Given the description of an element on the screen output the (x, y) to click on. 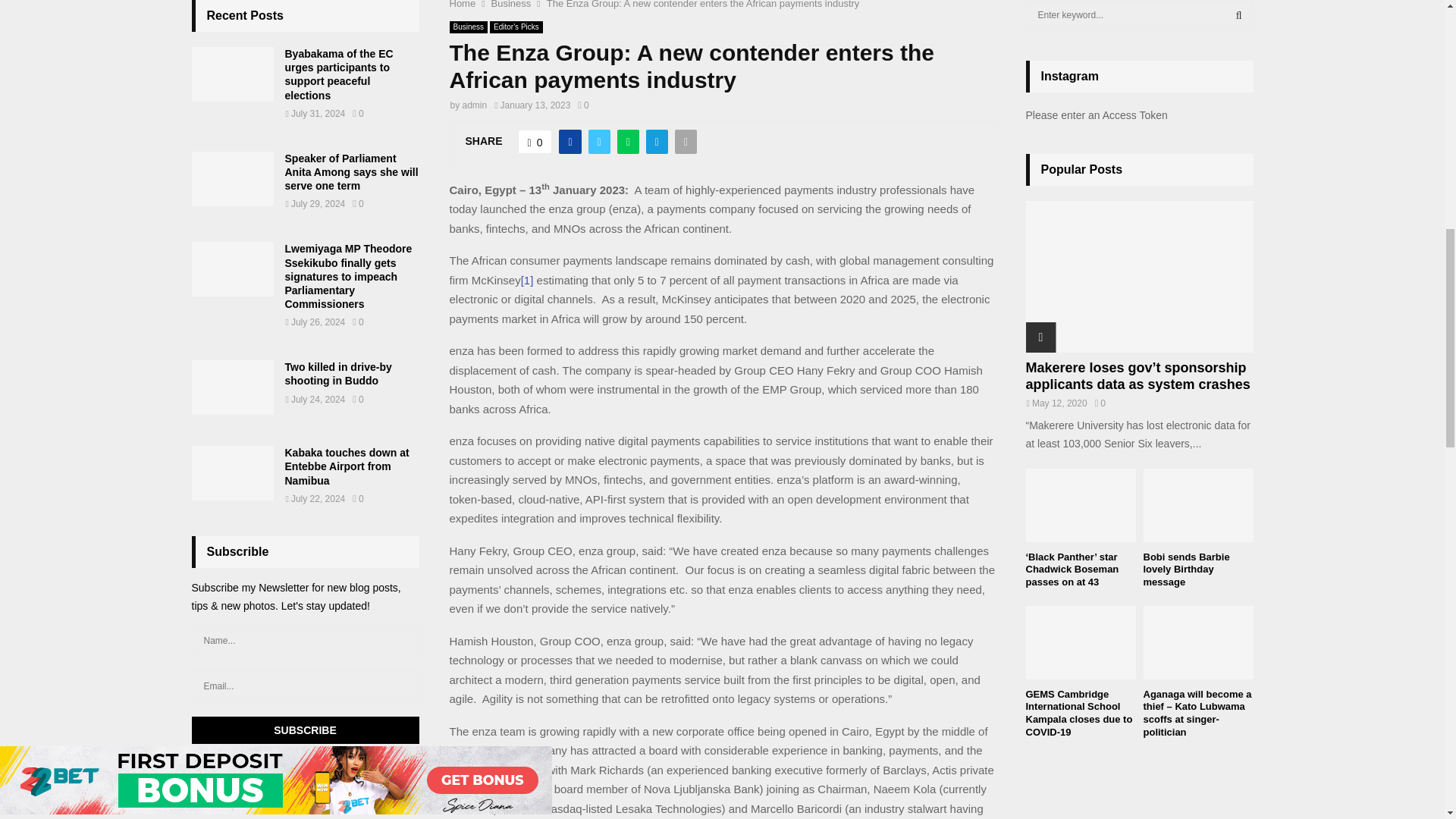
admin (475, 104)
Business (511, 4)
Business (467, 27)
0 (583, 104)
Editor's Picks (516, 27)
Like (535, 141)
0 (535, 141)
Subscribe (304, 729)
Home (462, 4)
